Given the description of an element on the screen output the (x, y) to click on. 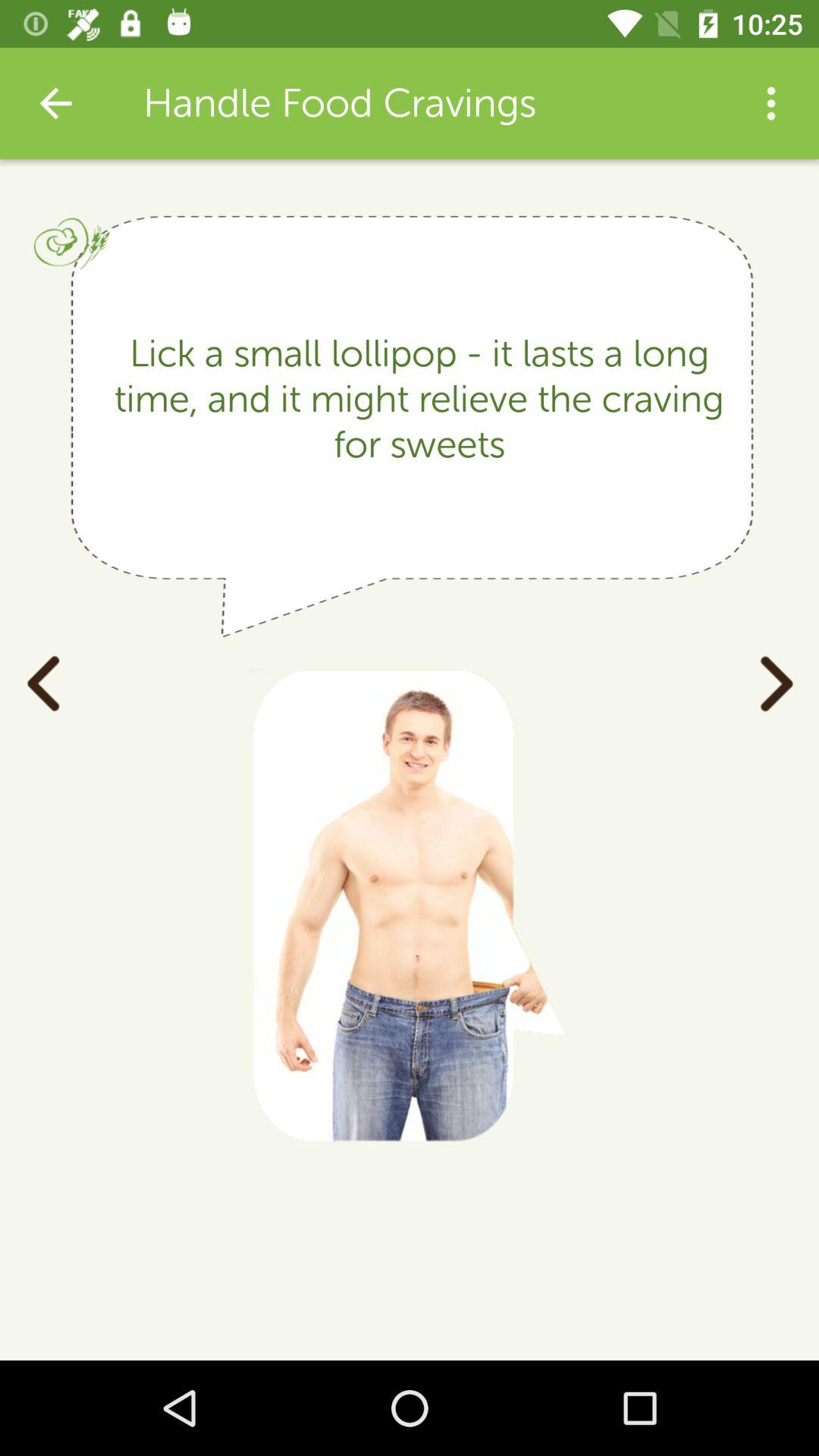
turn off the item above the lick a small item (771, 103)
